Given the description of an element on the screen output the (x, y) to click on. 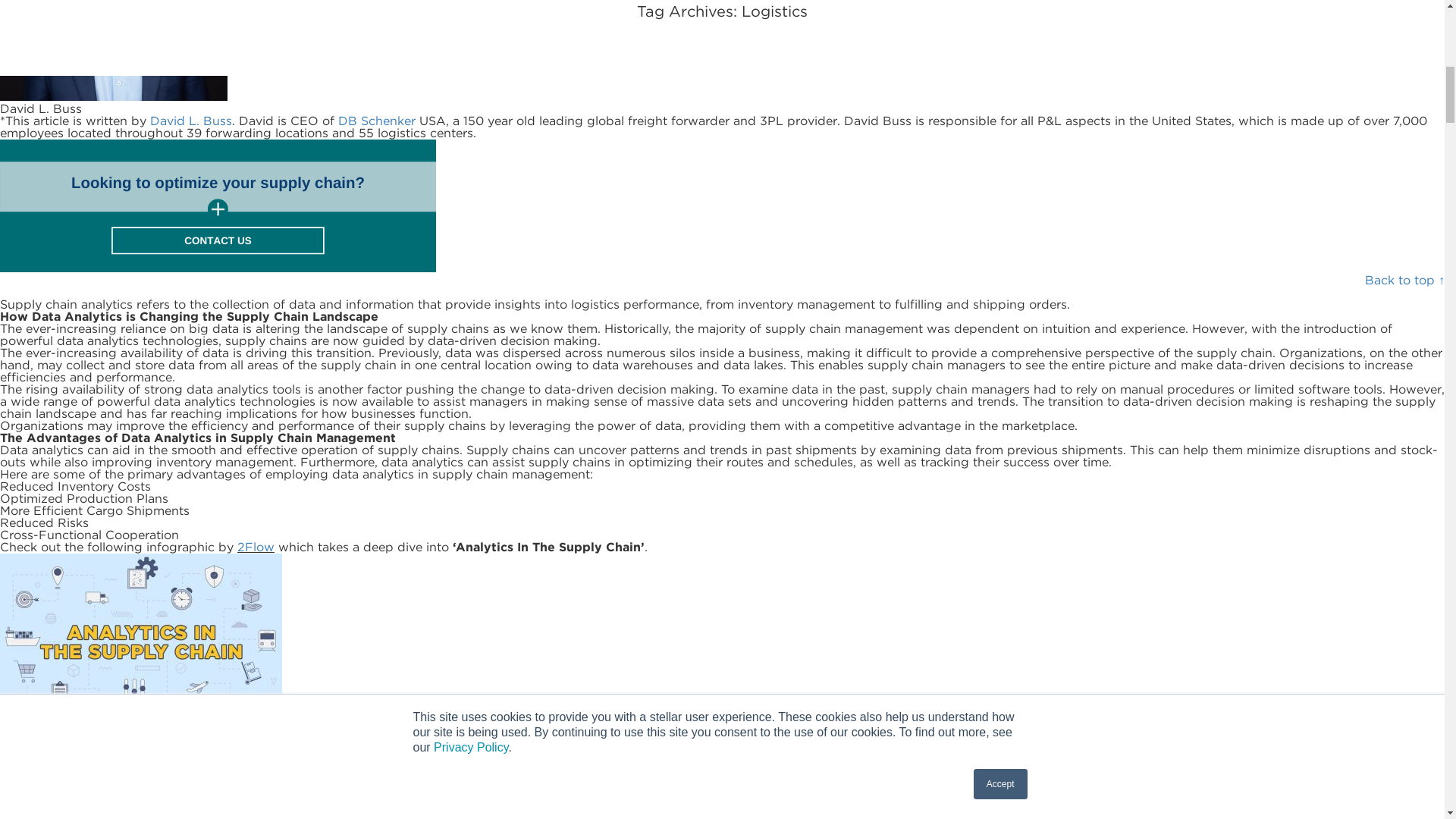
David L. Buss (190, 120)
2Flow (256, 546)
DB Schenker (375, 120)
